Given the description of an element on the screen output the (x, y) to click on. 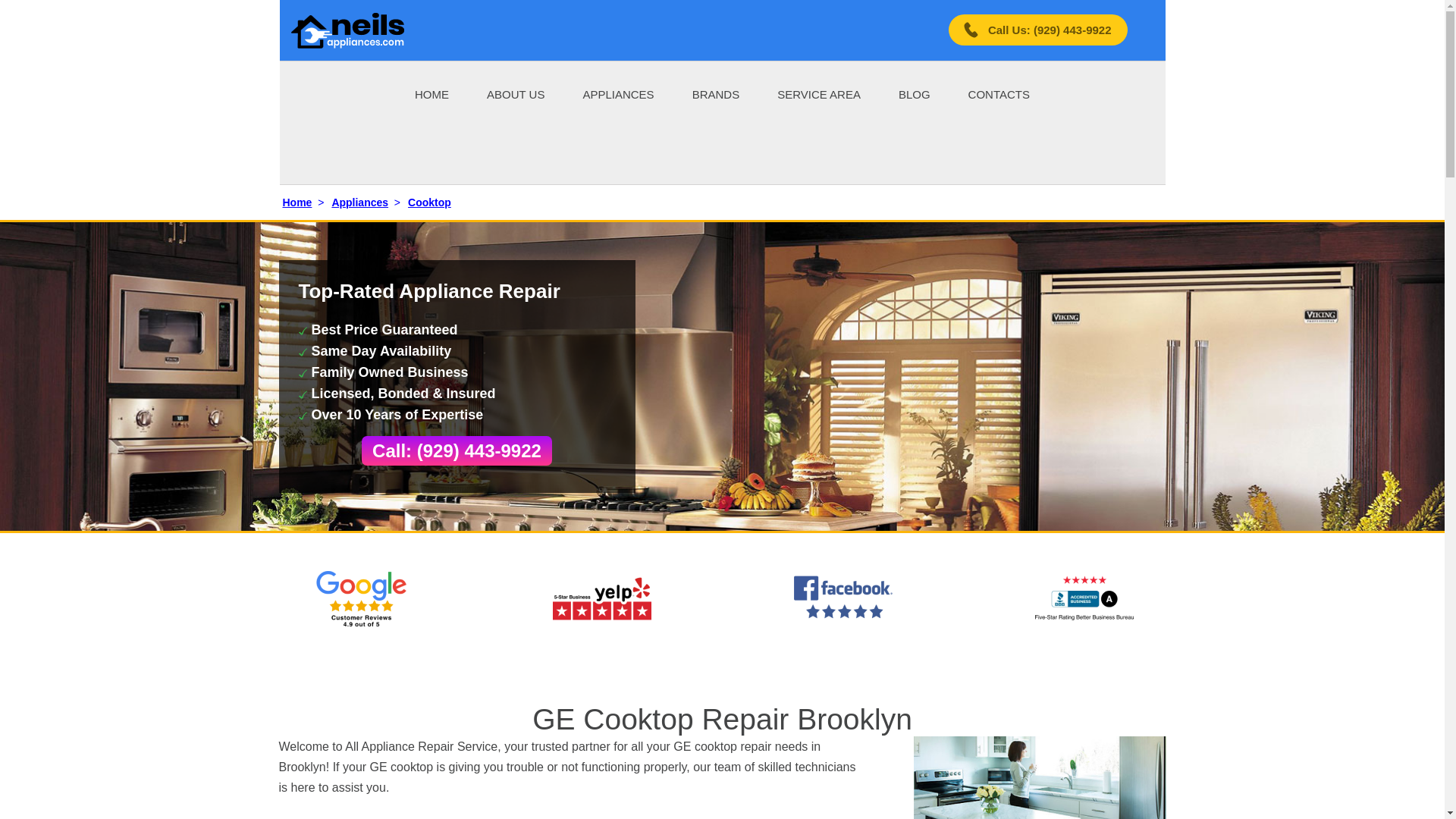
APPLIANCES (617, 93)
BRANDS (715, 93)
HOME (431, 93)
ABOUT US (515, 93)
